Given the description of an element on the screen output the (x, y) to click on. 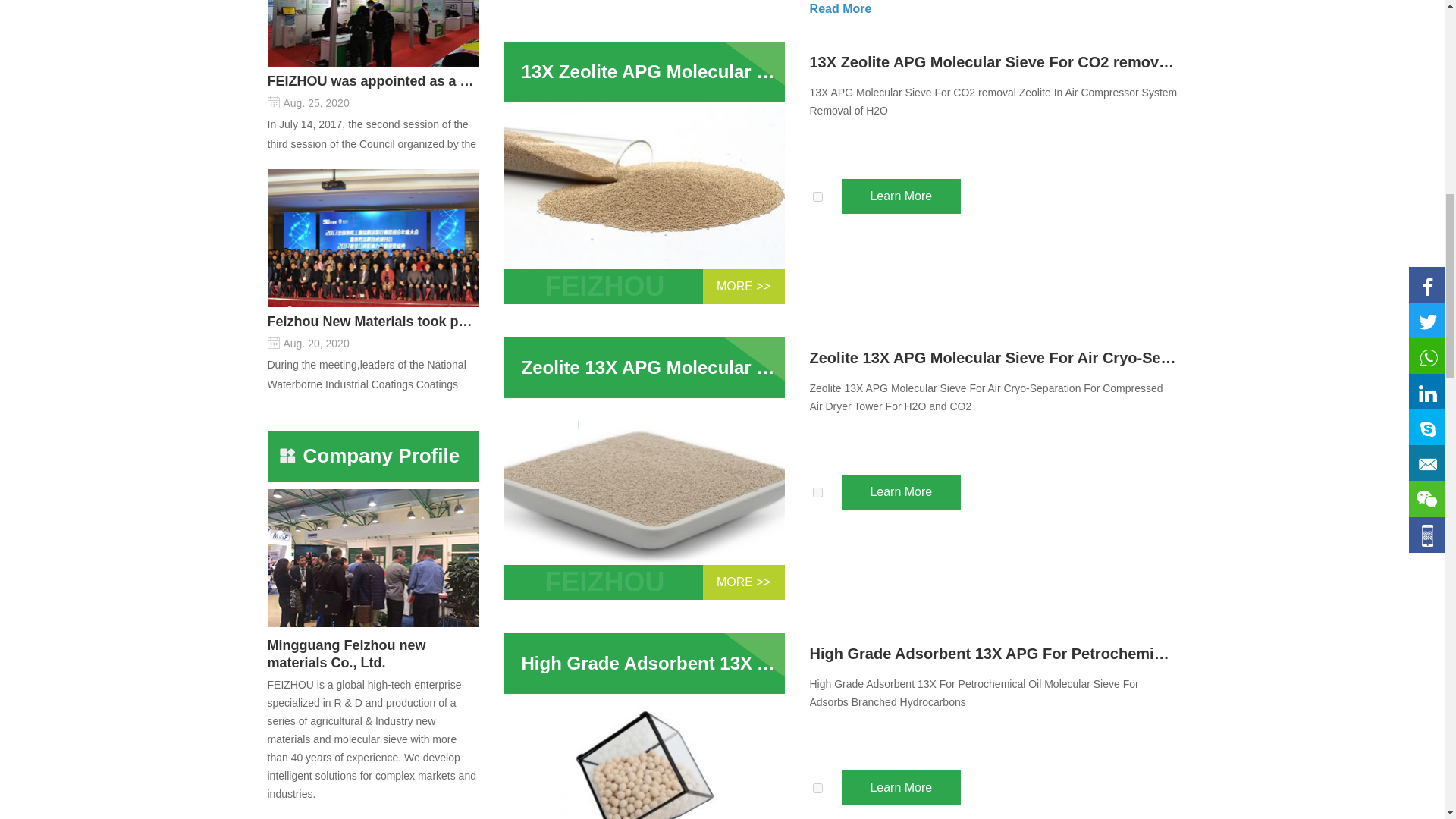
164 (817, 492)
163 (817, 787)
165 (817, 196)
